Given the description of an element on the screen output the (x, y) to click on. 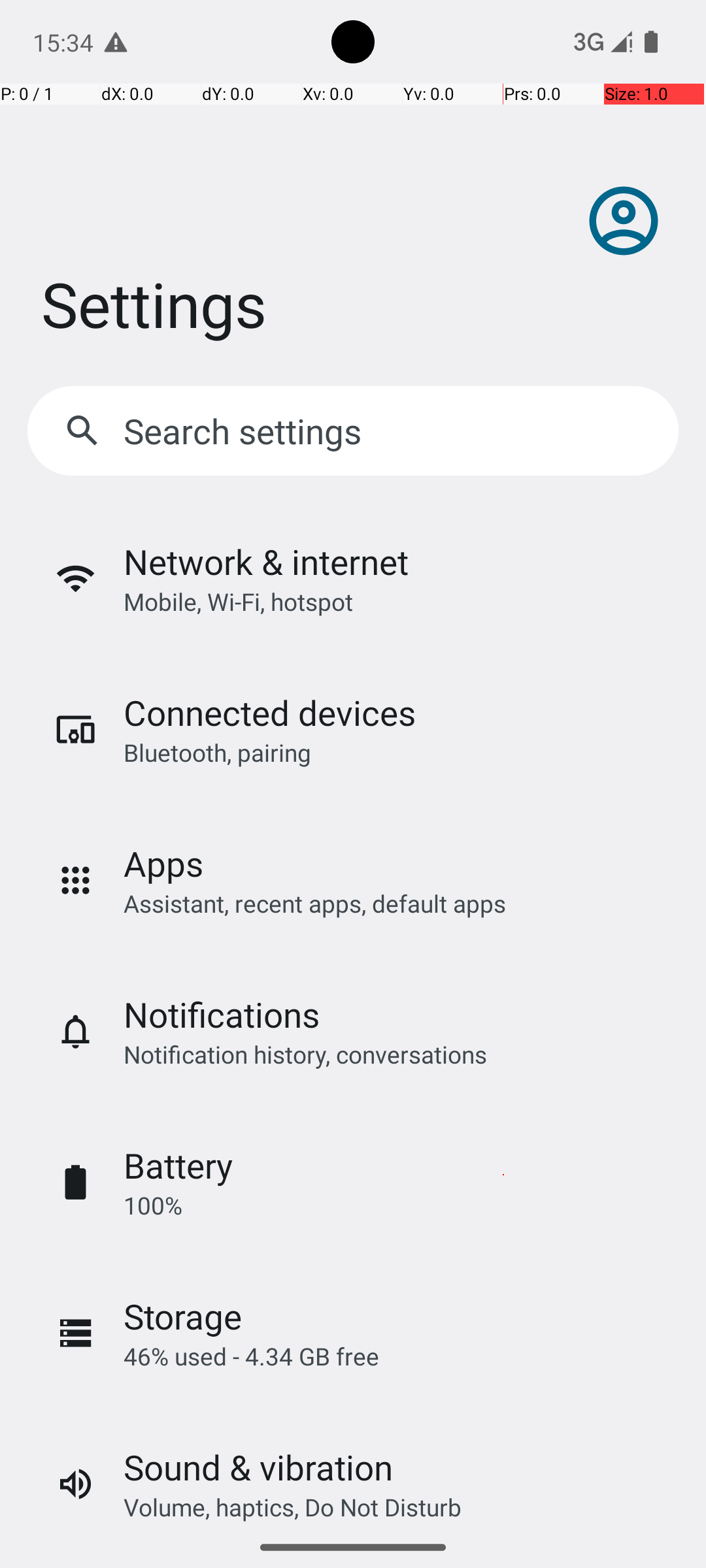
46% used - 4.34 GB free Element type: android.widget.TextView (251, 1355)
